Given the description of an element on the screen output the (x, y) to click on. 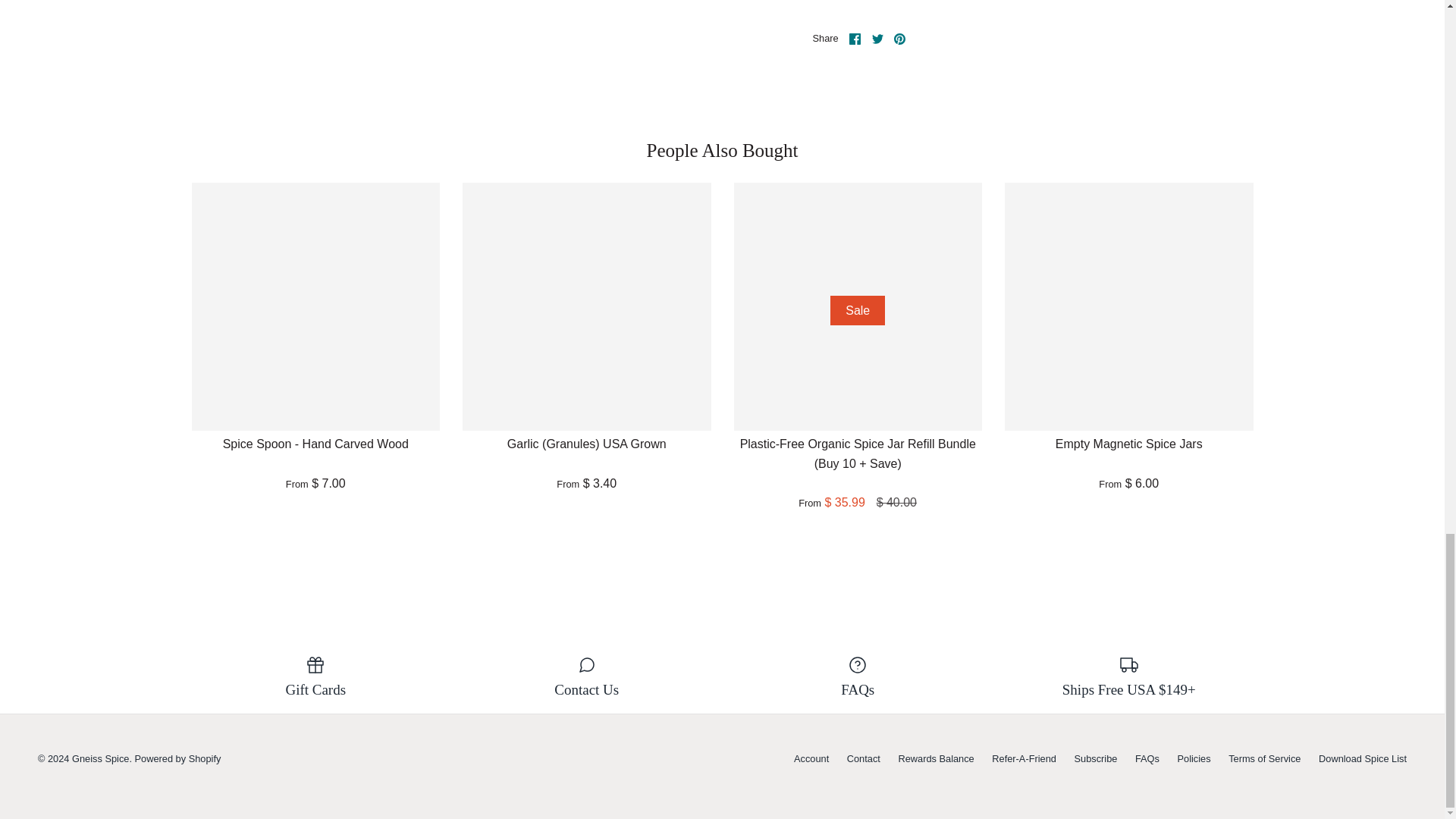
Pinterest (899, 39)
Twitter (877, 39)
Facebook (854, 39)
